Given the description of an element on the screen output the (x, y) to click on. 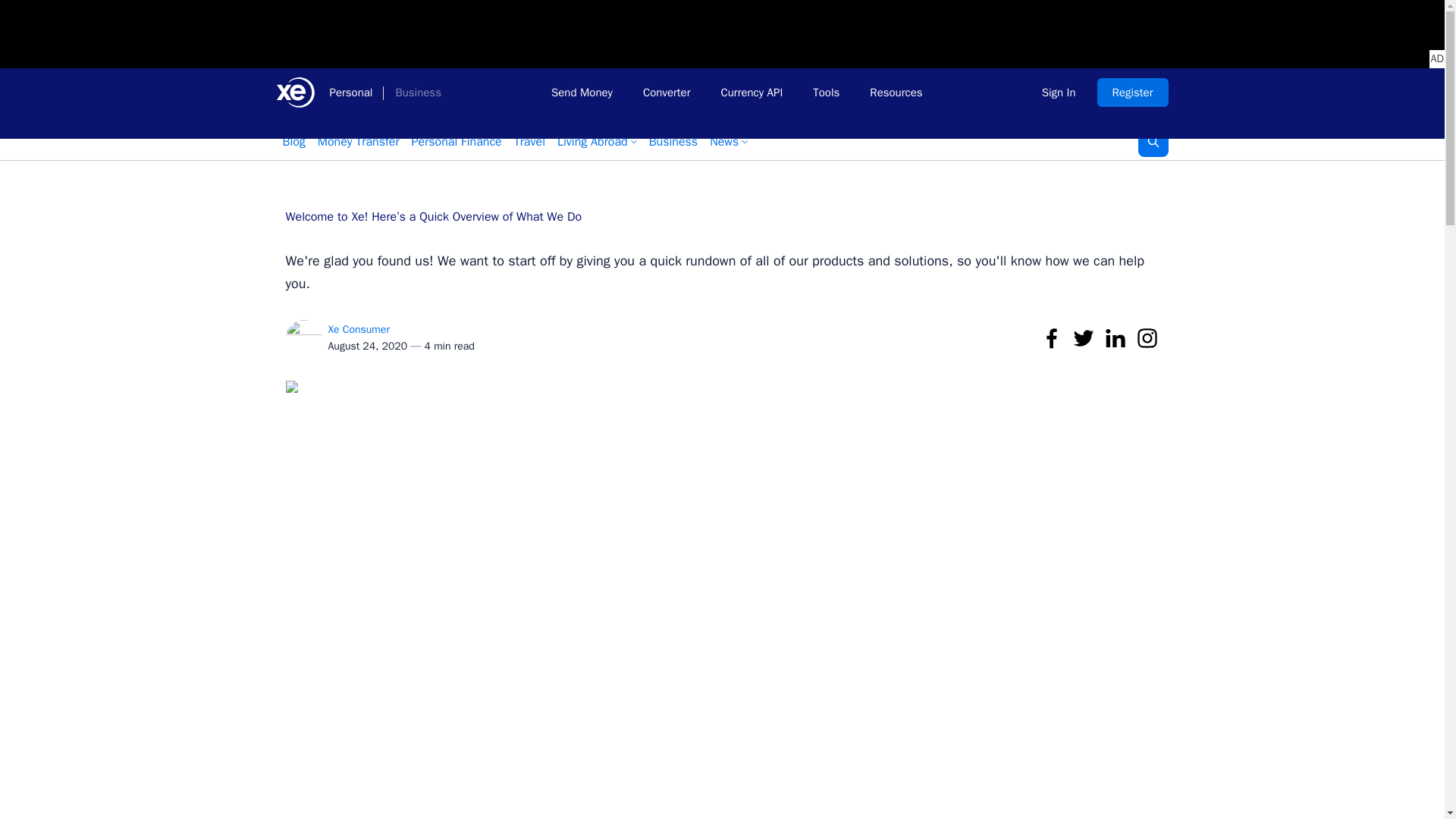
Converter (666, 92)
Send Money (581, 92)
Tools (825, 92)
Sign In (1058, 92)
Resources (895, 92)
Register (1133, 92)
Personal (350, 92)
Currency API (750, 92)
Business (417, 92)
